Given the description of an element on the screen output the (x, y) to click on. 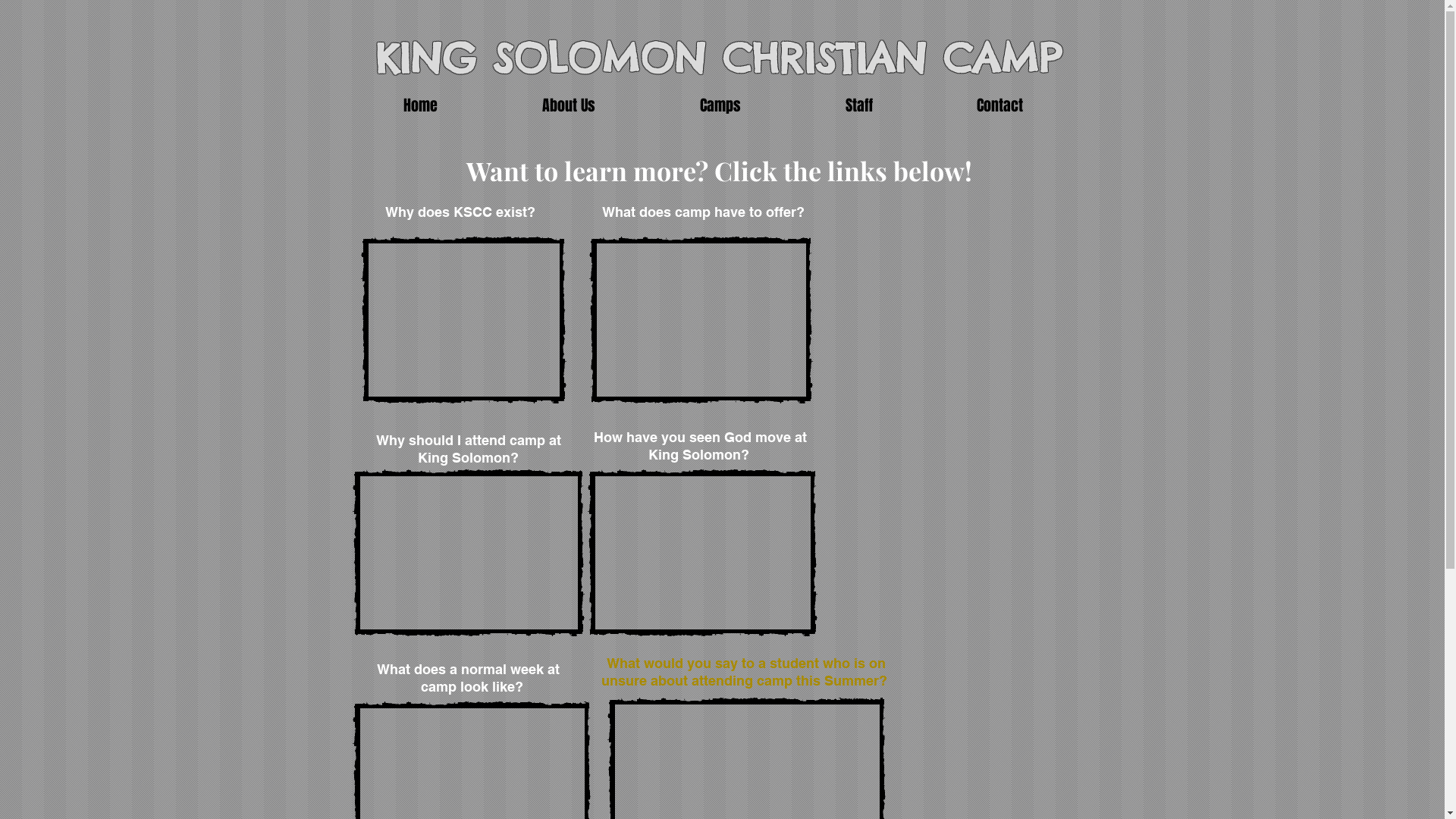
External YouTube Element type: hover (702, 552)
Camps Element type: text (720, 105)
Contact Element type: text (1000, 105)
External YouTube Element type: hover (462, 319)
External YouTube Element type: hover (468, 552)
About Us Element type: text (568, 105)
External YouTube Element type: hover (701, 319)
Staff Element type: text (859, 105)
Home Element type: text (419, 105)
